Given the description of an element on the screen output the (x, y) to click on. 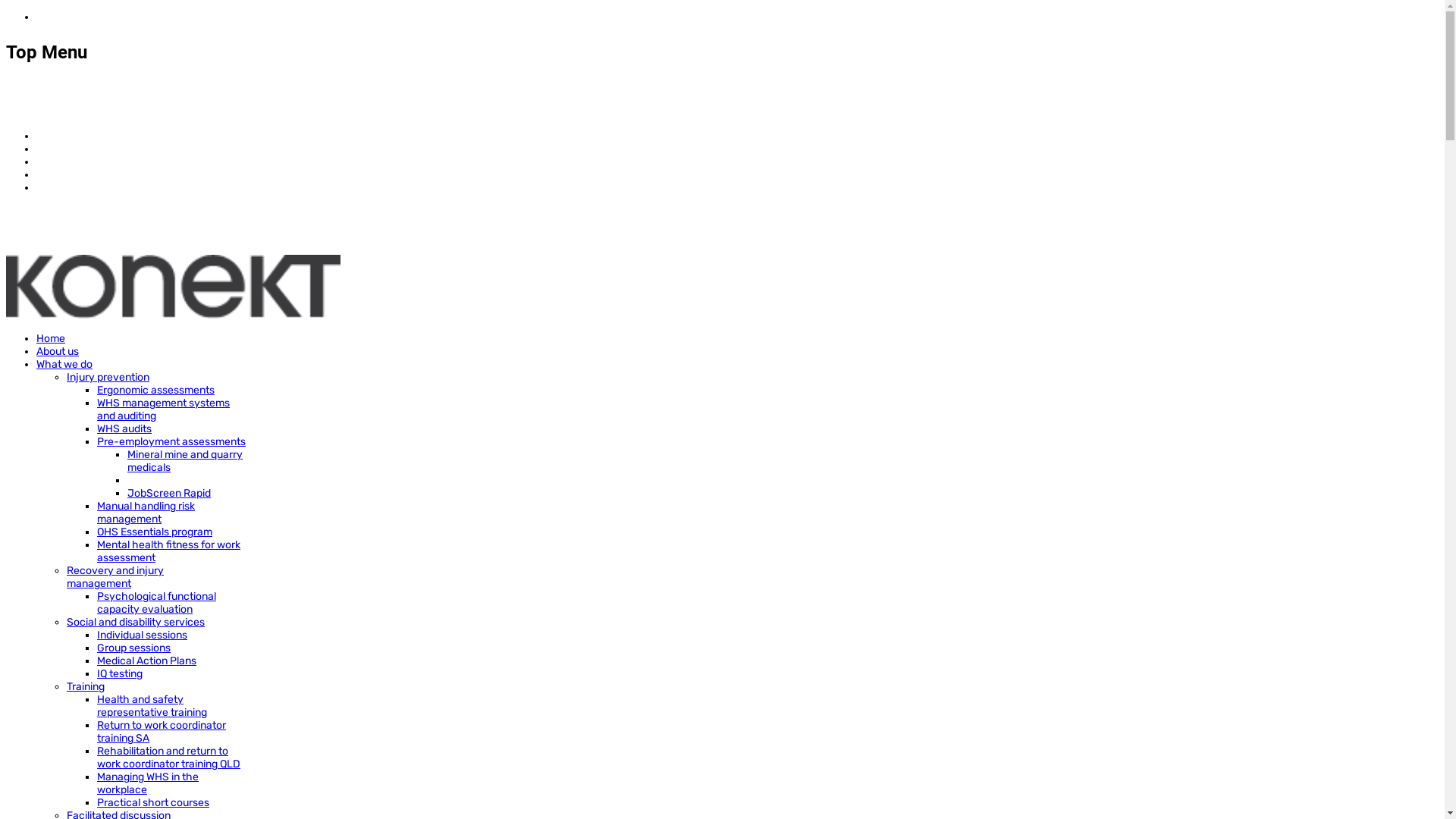
Health and safety representative training Element type: text (152, 705)
Home Element type: text (50, 338)
IQ testing Element type: text (119, 673)
Mental health fitness for work assessment Element type: text (168, 551)
Group sessions Element type: text (133, 647)
Pre-employment assessments Element type: text (171, 441)
Social and disability services Element type: text (135, 621)
Ergonomic assessments Element type: text (155, 389)
Feedback Element type: text (60, 161)
WHS audits Element type: text (124, 428)
Training Element type: text (85, 686)
OHS Essentials program Element type: text (154, 531)
JobScreen Rapid Element type: text (168, 492)
Manual handling risk management Element type: text (145, 512)
Mineral mine and quarry medicals Element type: text (184, 460)
What we do Element type: text (64, 363)
Locations Element type: text (60, 174)
WHS management systems and auditing Element type: text (163, 409)
Practical short courses Element type: text (153, 802)
Recovery and injury management Element type: text (114, 576)
Client Login Element type: text (64, 148)
Injury prevention Element type: text (107, 376)
Psychological functional capacity evaluation Element type: text (156, 602)
Managing WHS in the workplace Element type: text (147, 783)
Rehabilitation and return to work coordinator training QLD Element type: text (168, 757)
Return to work coordinator training SA Element type: text (161, 731)
About us Element type: text (57, 351)
Referrals Element type: text (58, 135)
Individual sessions Element type: text (142, 634)
Connect with us Element type: text (75, 187)
Medical Action Plans Element type: text (146, 660)
